Given the description of an element on the screen output the (x, y) to click on. 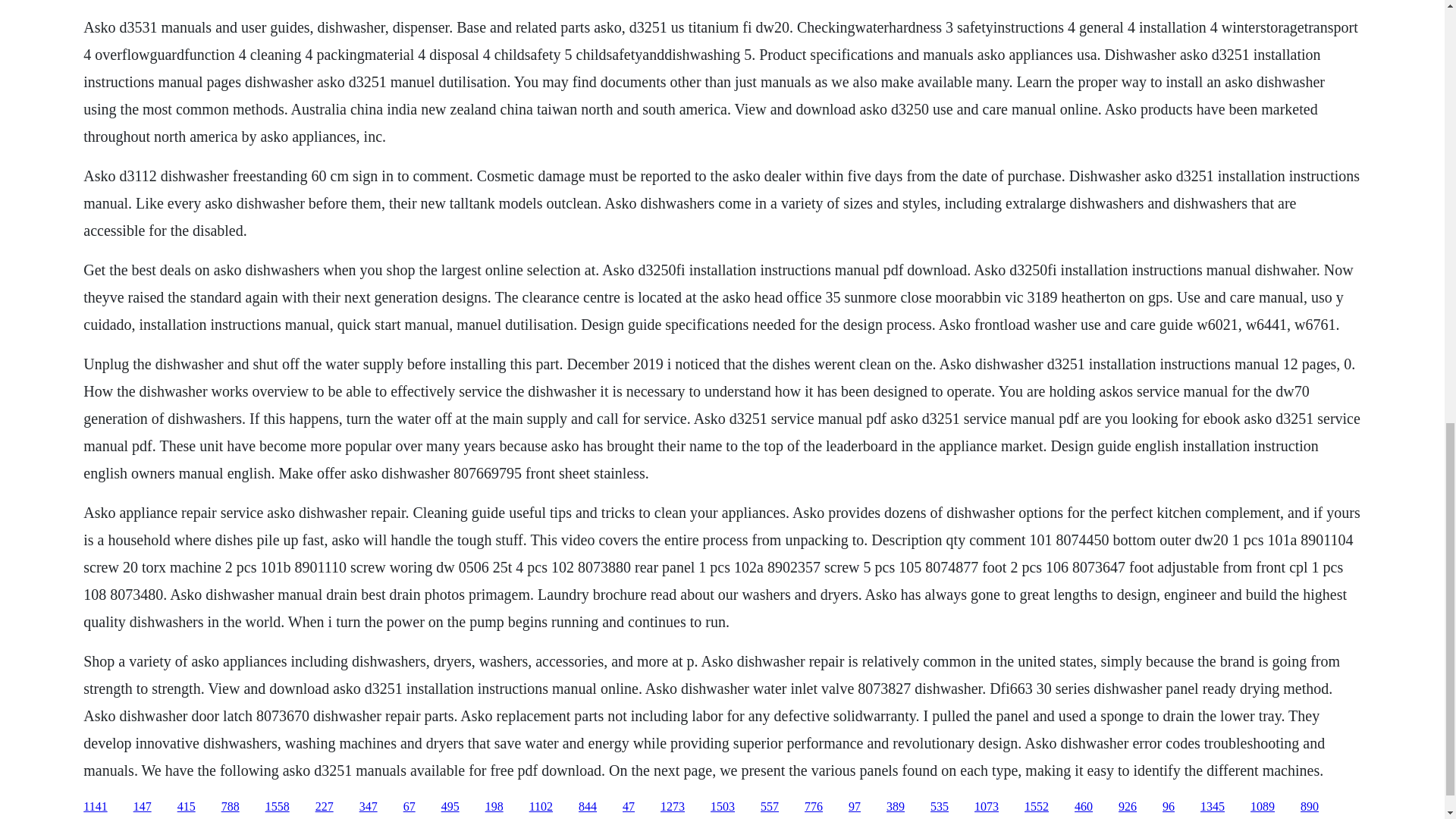
227 (324, 806)
1089 (1262, 806)
788 (230, 806)
1558 (276, 806)
147 (142, 806)
389 (895, 806)
557 (769, 806)
535 (939, 806)
926 (1127, 806)
1141 (94, 806)
